Given the description of an element on the screen output the (x, y) to click on. 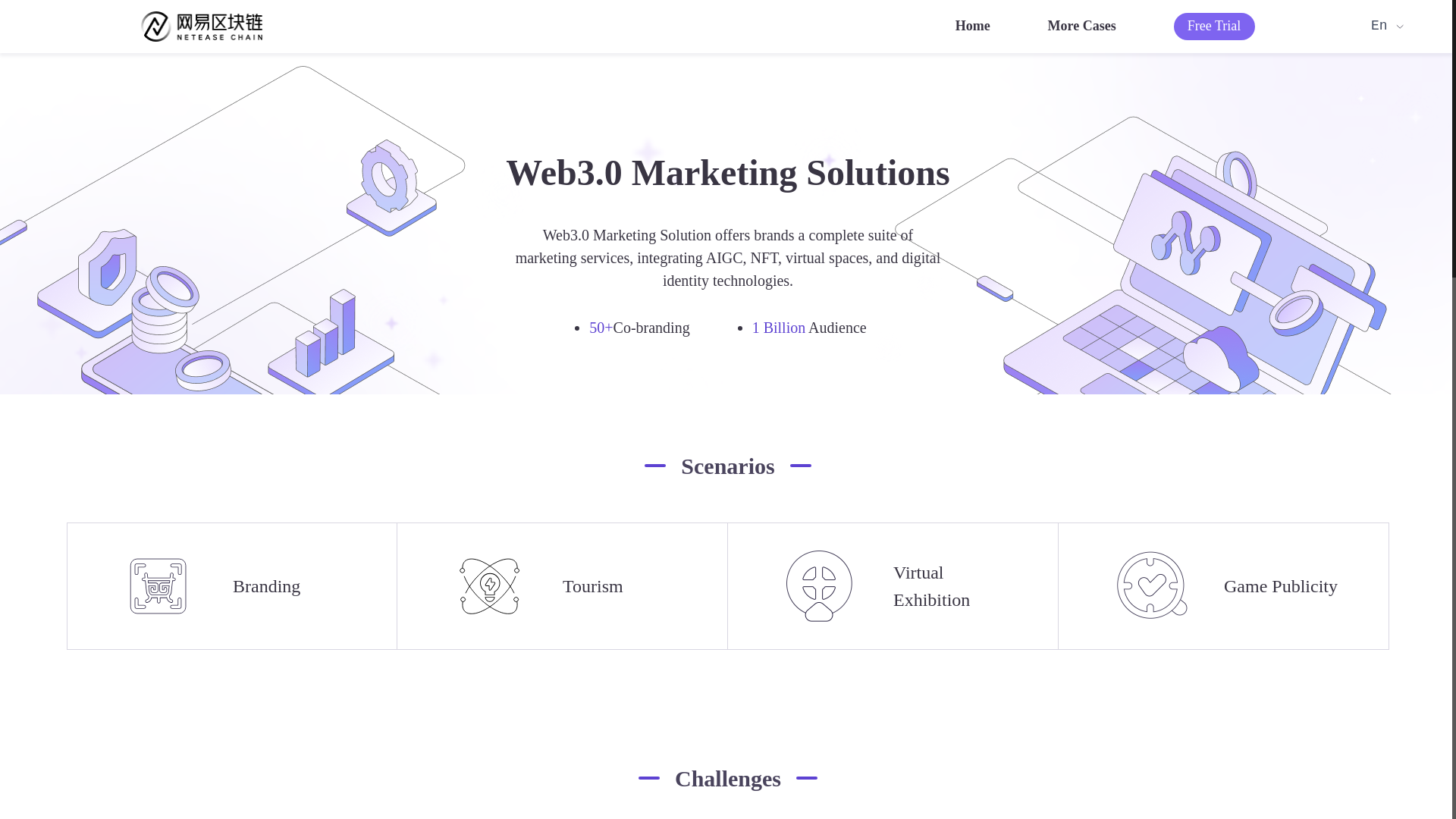
Free Trial Element type: text (1214, 26)
More Cases Element type: text (1082, 25)
Home Element type: text (972, 25)
